Given the description of an element on the screen output the (x, y) to click on. 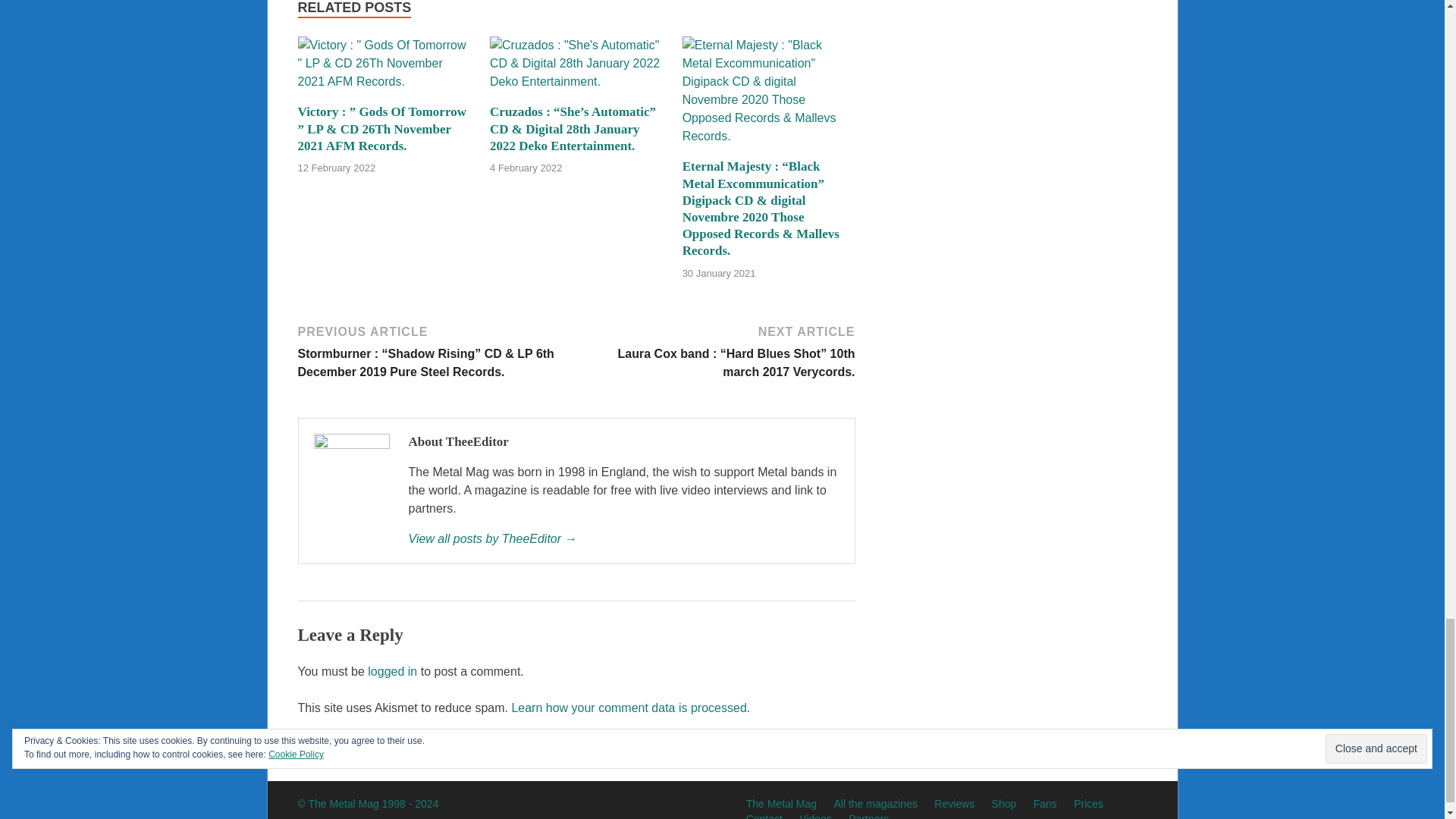
TheeEditor (622, 538)
